Given the description of an element on the screen output the (x, y) to click on. 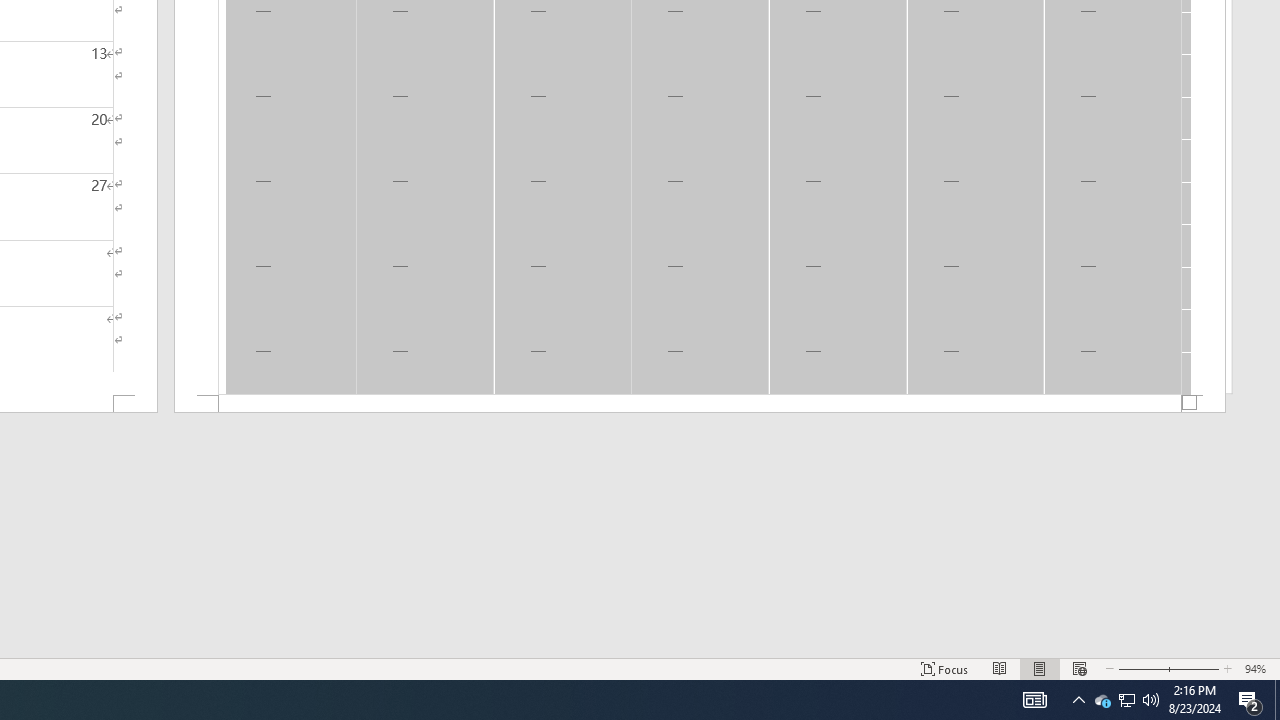
Zoom Out (1140, 668)
Focus  (944, 668)
Print Layout (1039, 668)
Footer -Section 1- (700, 404)
Read Mode (1000, 668)
Zoom In (1193, 668)
Web Layout (1079, 668)
